Given the description of an element on the screen output the (x, y) to click on. 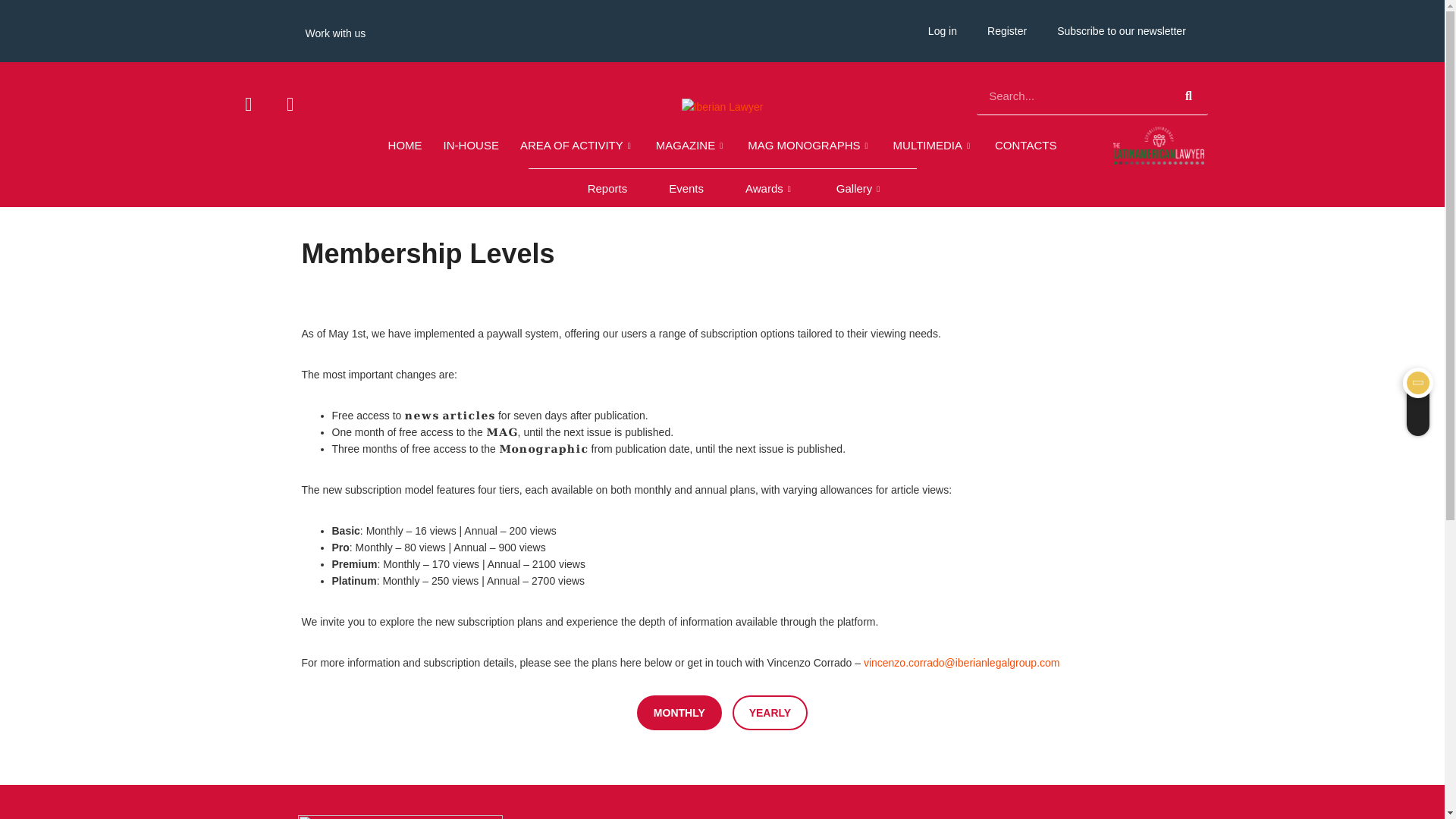
Work with us (334, 33)
Log in (942, 30)
HOME (404, 145)
Register (1007, 30)
Subscribe to our newsletter (1121, 30)
